Given the description of an element on the screen output the (x, y) to click on. 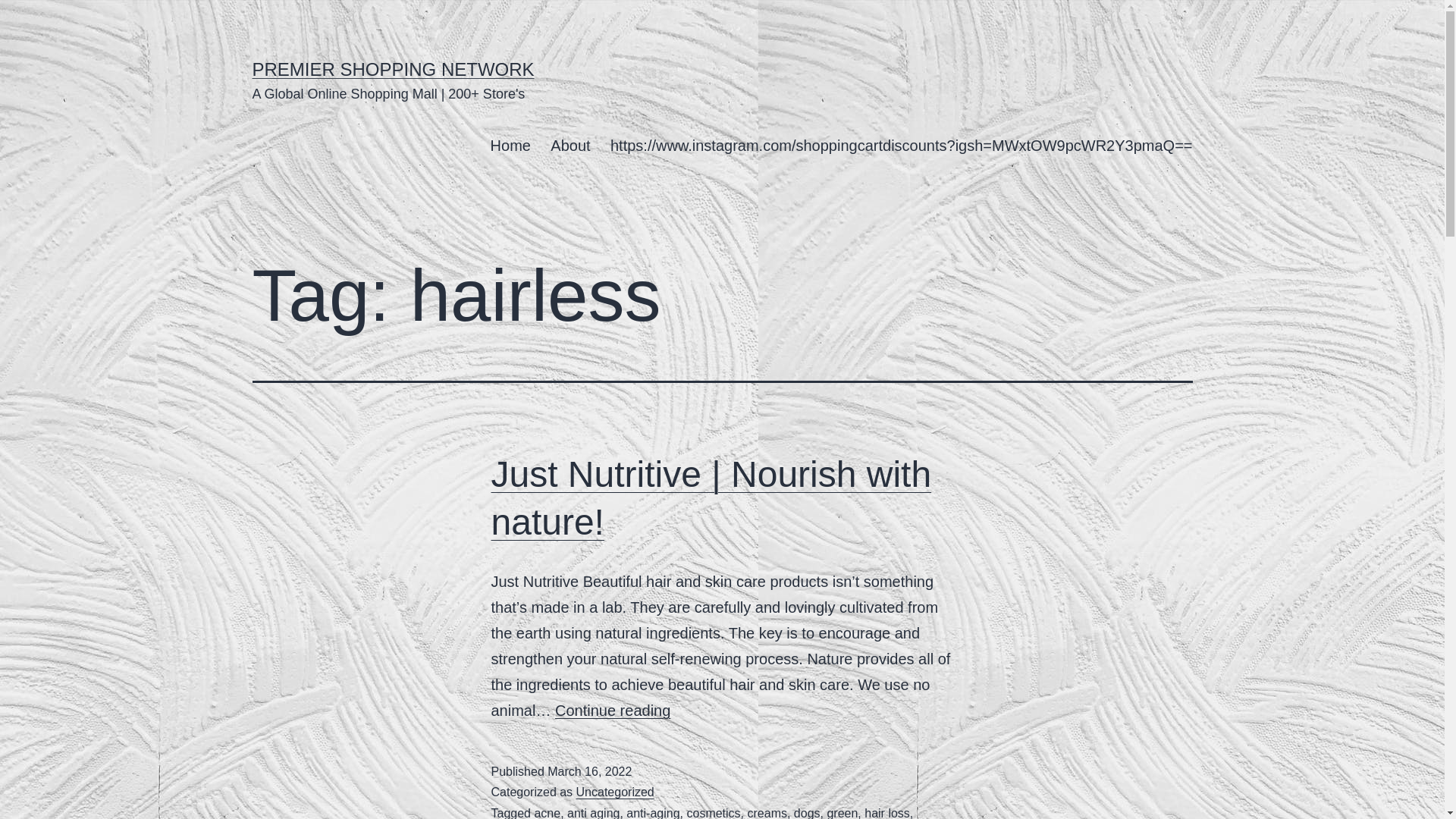
green (842, 812)
Uncategorized (614, 791)
acne (547, 812)
dogs (807, 812)
PREMIER SHOPPING NETWORK (392, 68)
anti aging (593, 812)
hair loss (887, 812)
About (569, 144)
anti-aging (652, 812)
creams (767, 812)
cosmetics (712, 812)
Home (510, 144)
